Given the description of an element on the screen output the (x, y) to click on. 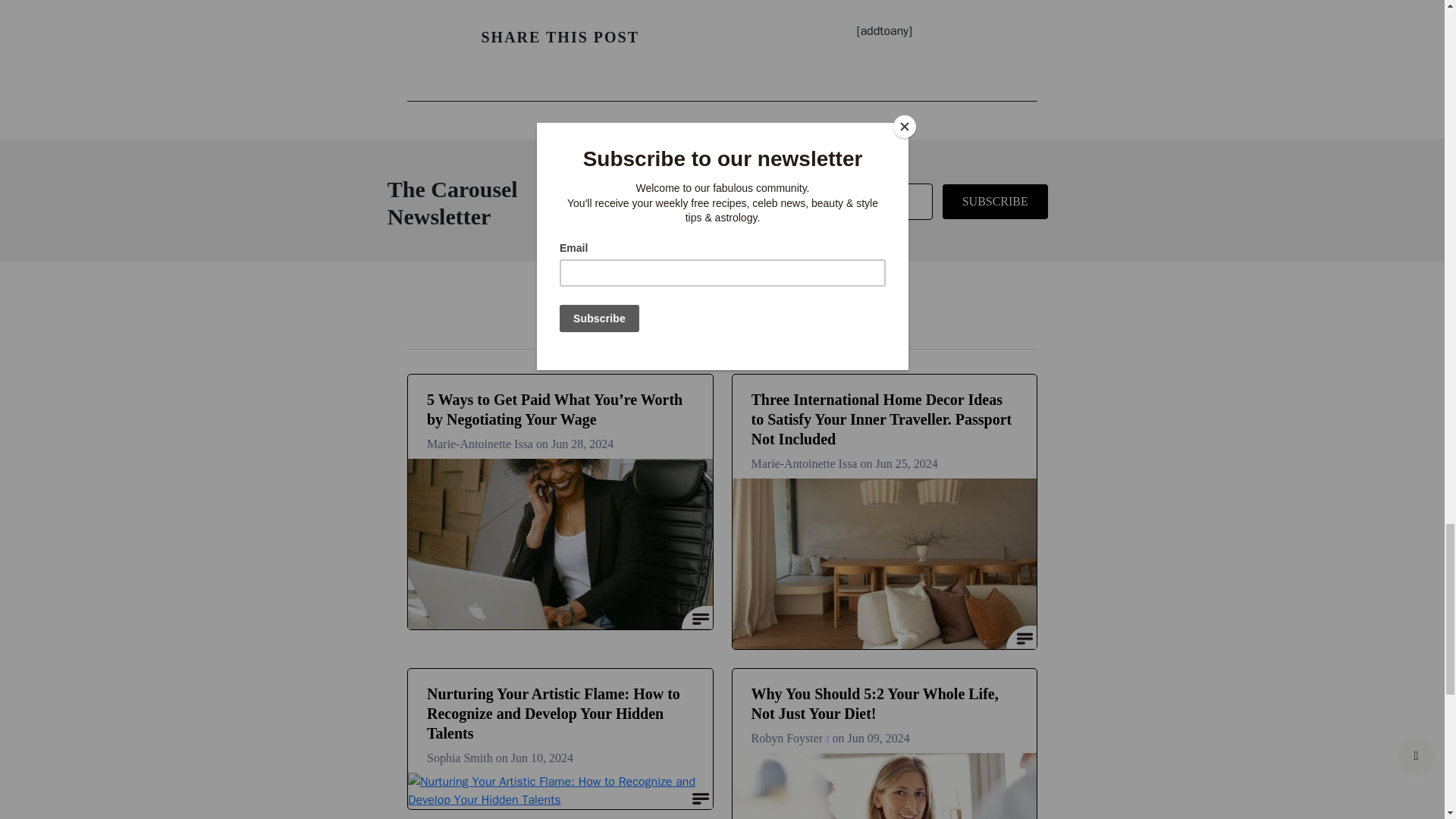
How to negotiate your wage (560, 543)
SUBSCRIBE (995, 201)
International Home Decor (884, 563)
